Given the description of an element on the screen output the (x, y) to click on. 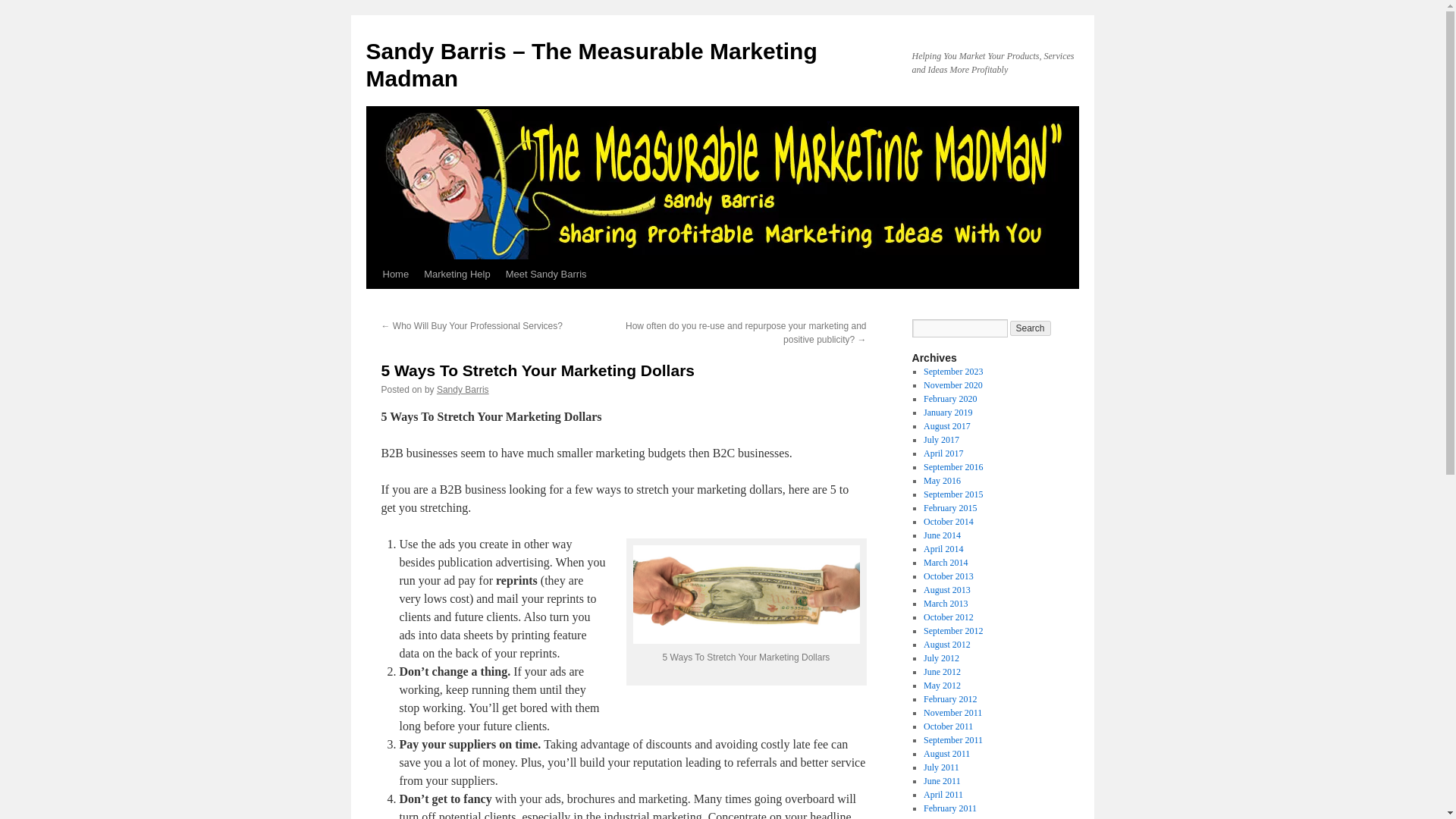
Marketing Help (456, 274)
July 2017 (941, 439)
May 2016 (941, 480)
January 2019 (947, 412)
November 2020 (952, 385)
View all posts by Sandy Barris (462, 389)
September 2023 (952, 371)
April 2017 (942, 452)
Home (395, 274)
Meet Sandy Barris (545, 274)
Sandy Barris (462, 389)
August 2017 (947, 425)
September 2016 (952, 466)
February 2020 (949, 398)
Search (1030, 328)
